Given the description of an element on the screen output the (x, y) to click on. 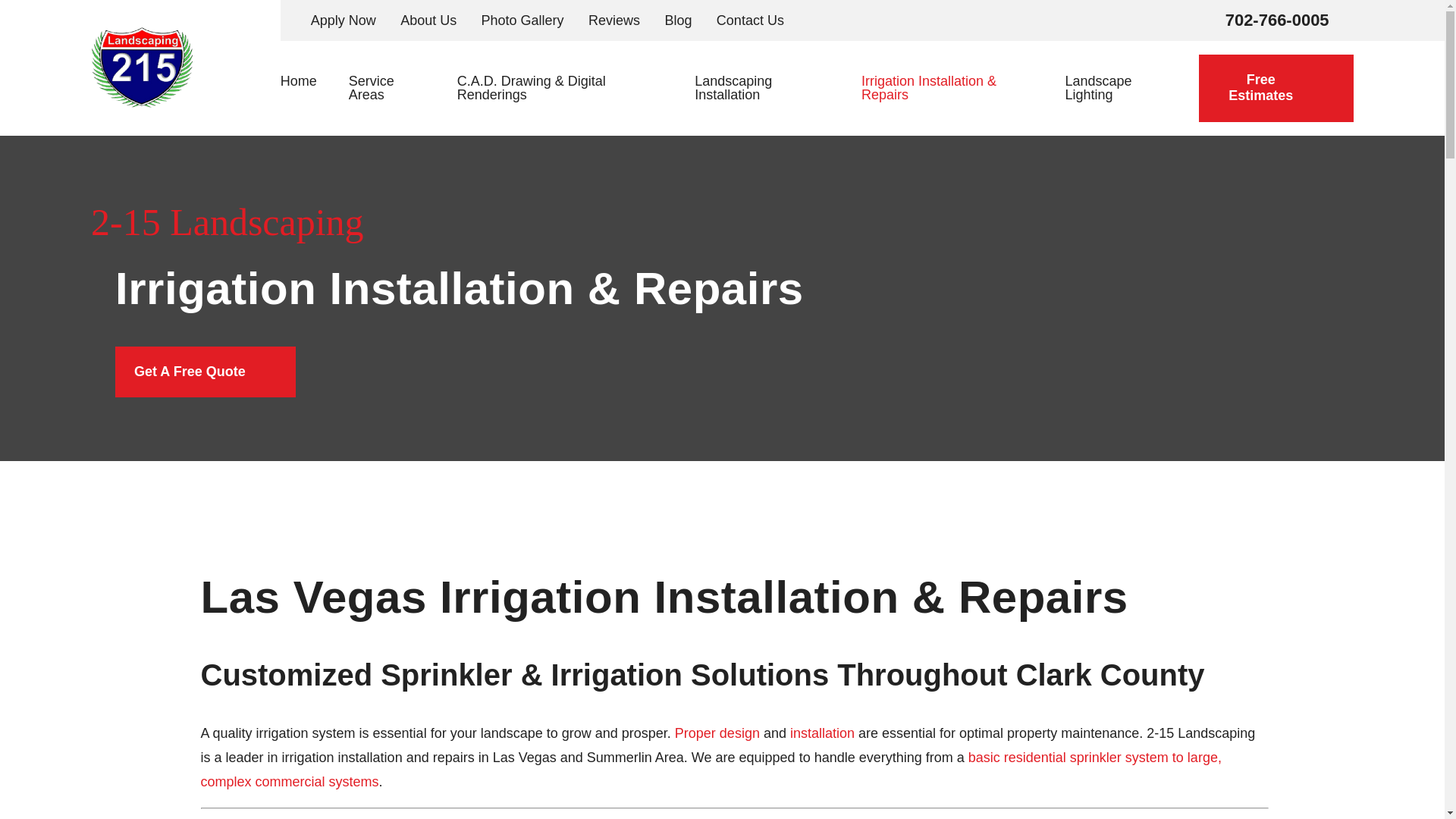
Apply Now (343, 20)
Open the accessibility options menu (31, 786)
Landscape Lighting (1111, 87)
Service Areas (387, 87)
Photo Gallery (522, 20)
2-15 Landscaping (141, 67)
Blog (677, 20)
About Us (428, 20)
Contact Us (750, 20)
702-766-0005 (1277, 20)
Reviews (614, 20)
Landscaping Installation (761, 87)
